Given the description of an element on the screen output the (x, y) to click on. 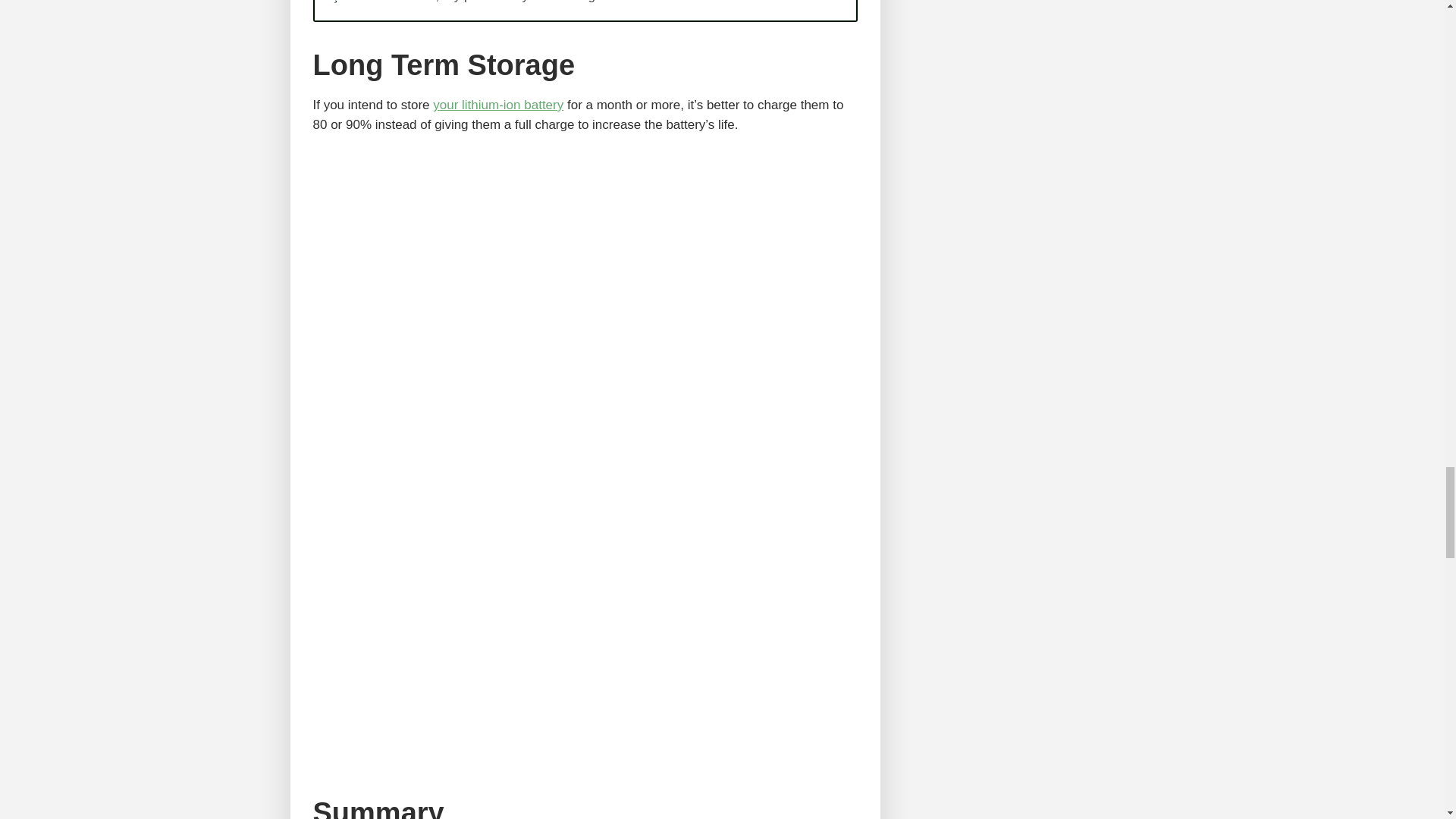
your lithium-ion battery (497, 104)
